Given the description of an element on the screen output the (x, y) to click on. 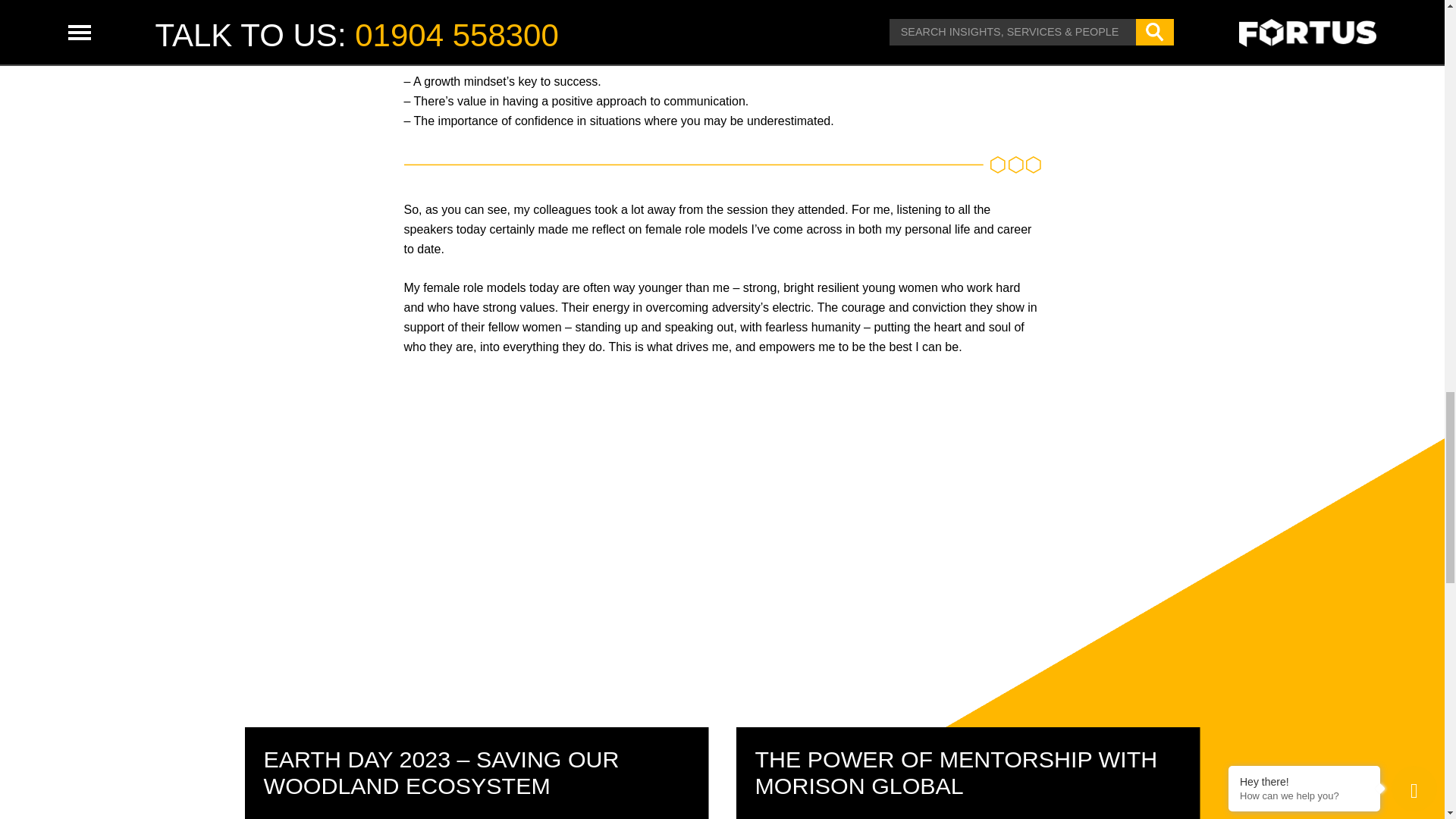
THE POWER OF MENTORSHIP WITH MORISON GLOBAL (956, 772)
